Given the description of an element on the screen output the (x, y) to click on. 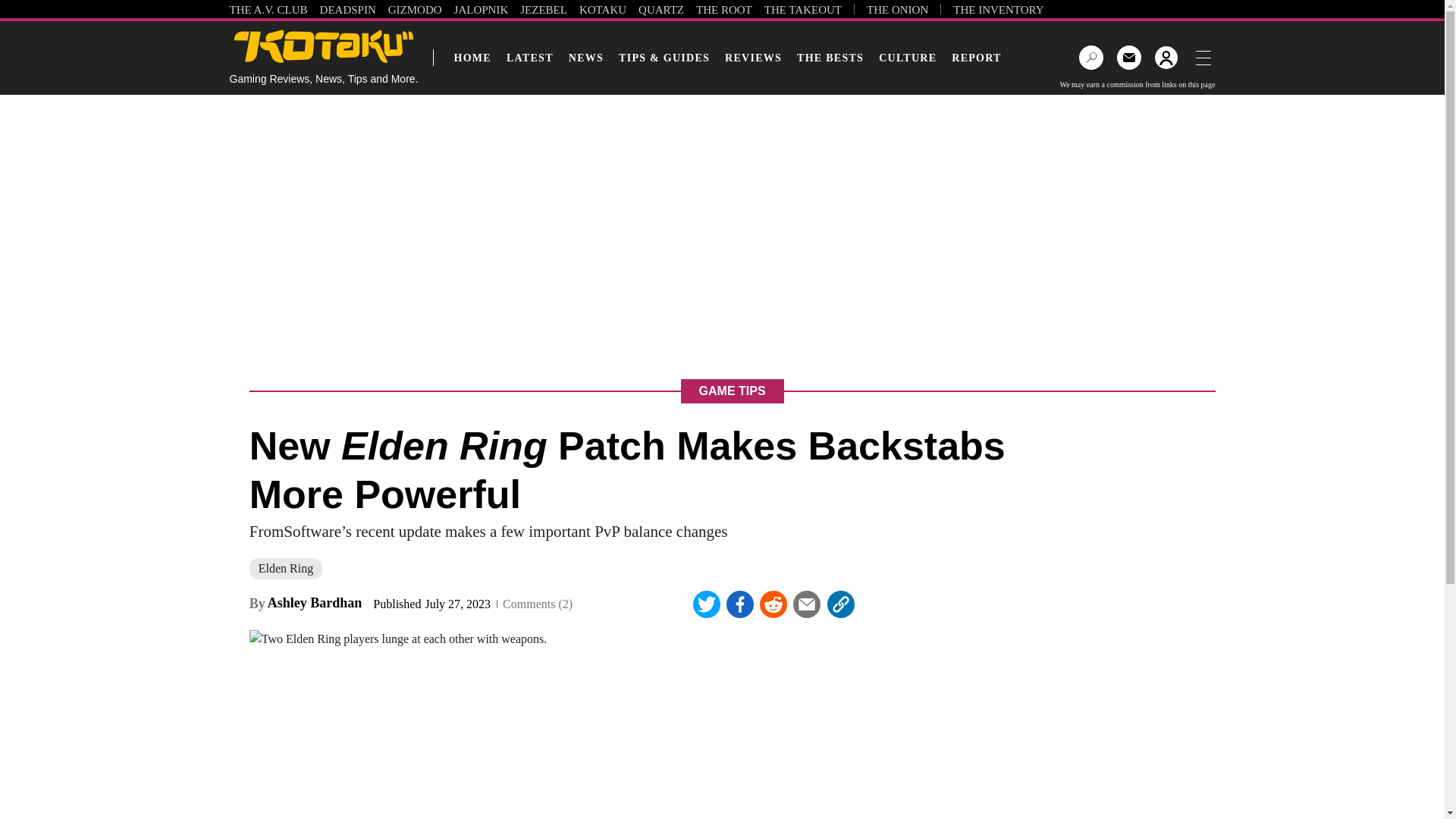
REPORT (976, 57)
REVIEWS (753, 57)
GIZMODO (415, 9)
THE INVENTORY (998, 9)
CULTURE (907, 57)
Share to Twitter (706, 603)
THE ROOT (723, 9)
NEWS (586, 57)
KOTAKU (602, 9)
THE ONION (897, 9)
QUARTZ (661, 9)
Kotaku (323, 45)
JEZEBEL (543, 9)
Share to Reddit (773, 603)
HOME (471, 57)
